Given the description of an element on the screen output the (x, y) to click on. 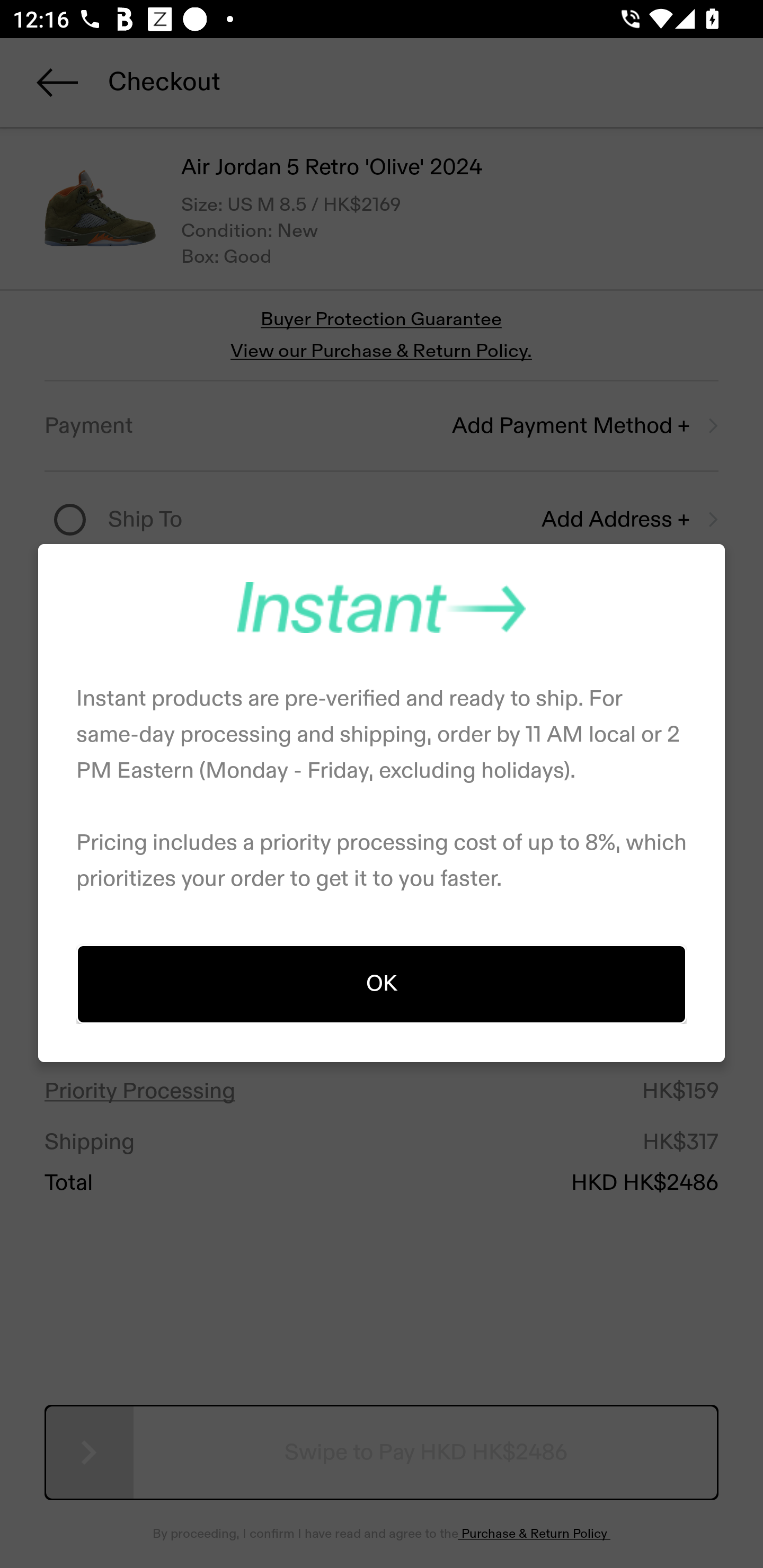
OK (381, 983)
